Given the description of an element on the screen output the (x, y) to click on. 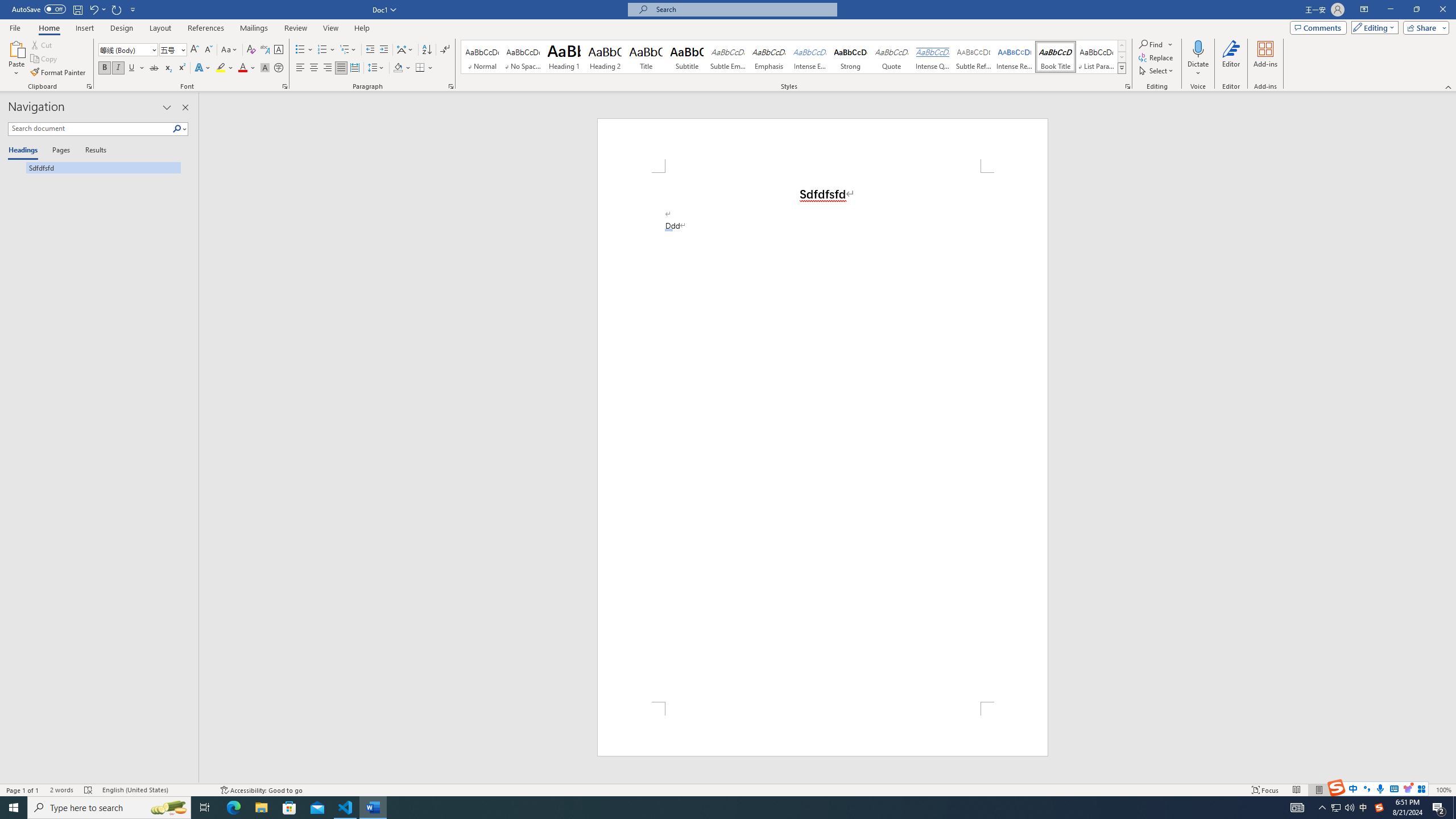
Subtitle (686, 56)
Shading (402, 67)
Page 1 content (822, 436)
Paragraph... (450, 85)
Show/Hide Editing Marks (444, 49)
Grow Font (193, 49)
Comments (1318, 27)
Text Highlight Color Yellow (220, 67)
Search (179, 128)
Underline (136, 67)
Sort... (426, 49)
Asian Layout (405, 49)
Character Border (278, 49)
Results (91, 150)
Sdfdfsfd (94, 167)
